Given the description of an element on the screen output the (x, y) to click on. 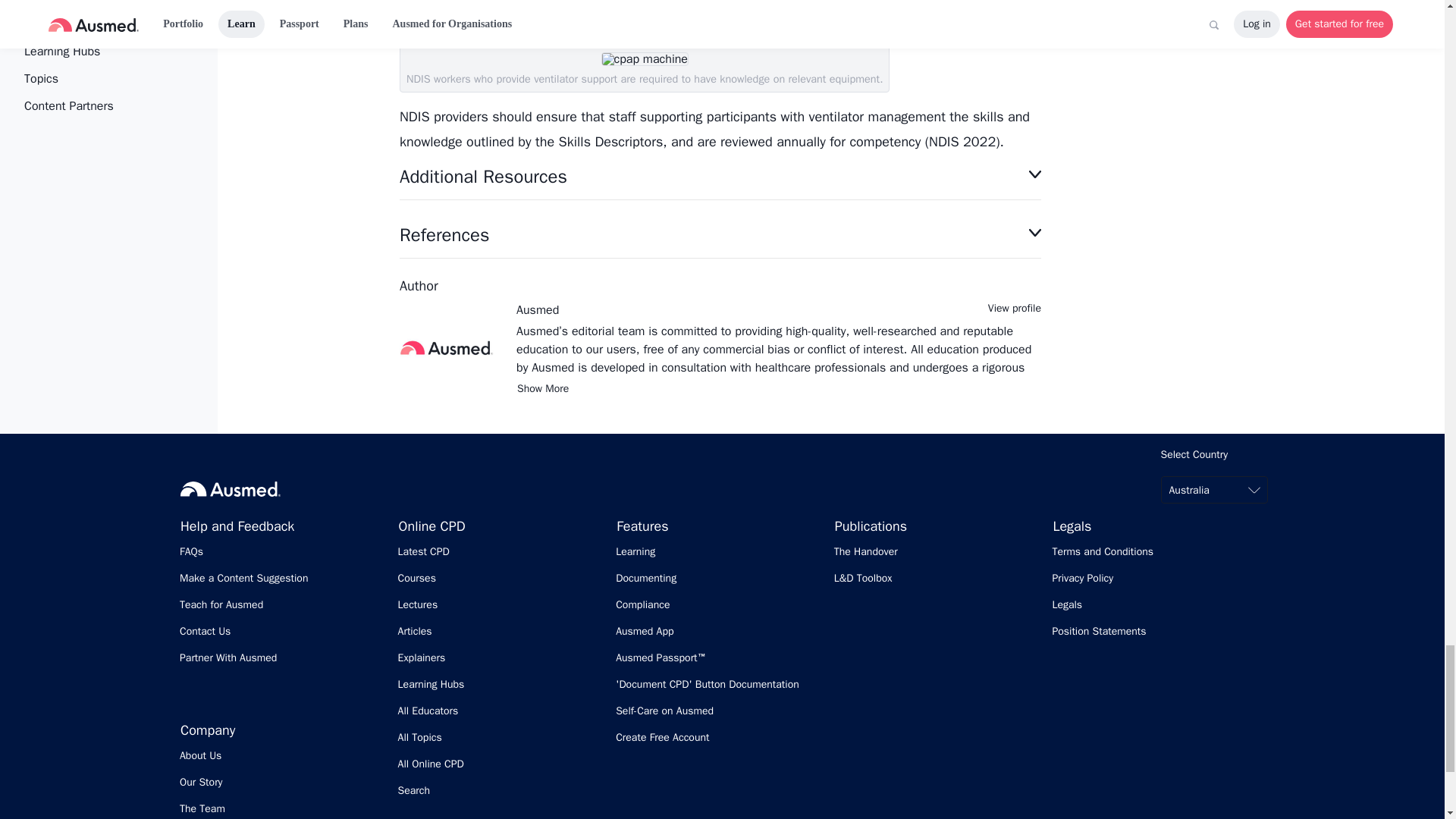
Ausmed (537, 309)
Ausmed Home (230, 487)
View profile (1014, 308)
